Given the description of an element on the screen output the (x, y) to click on. 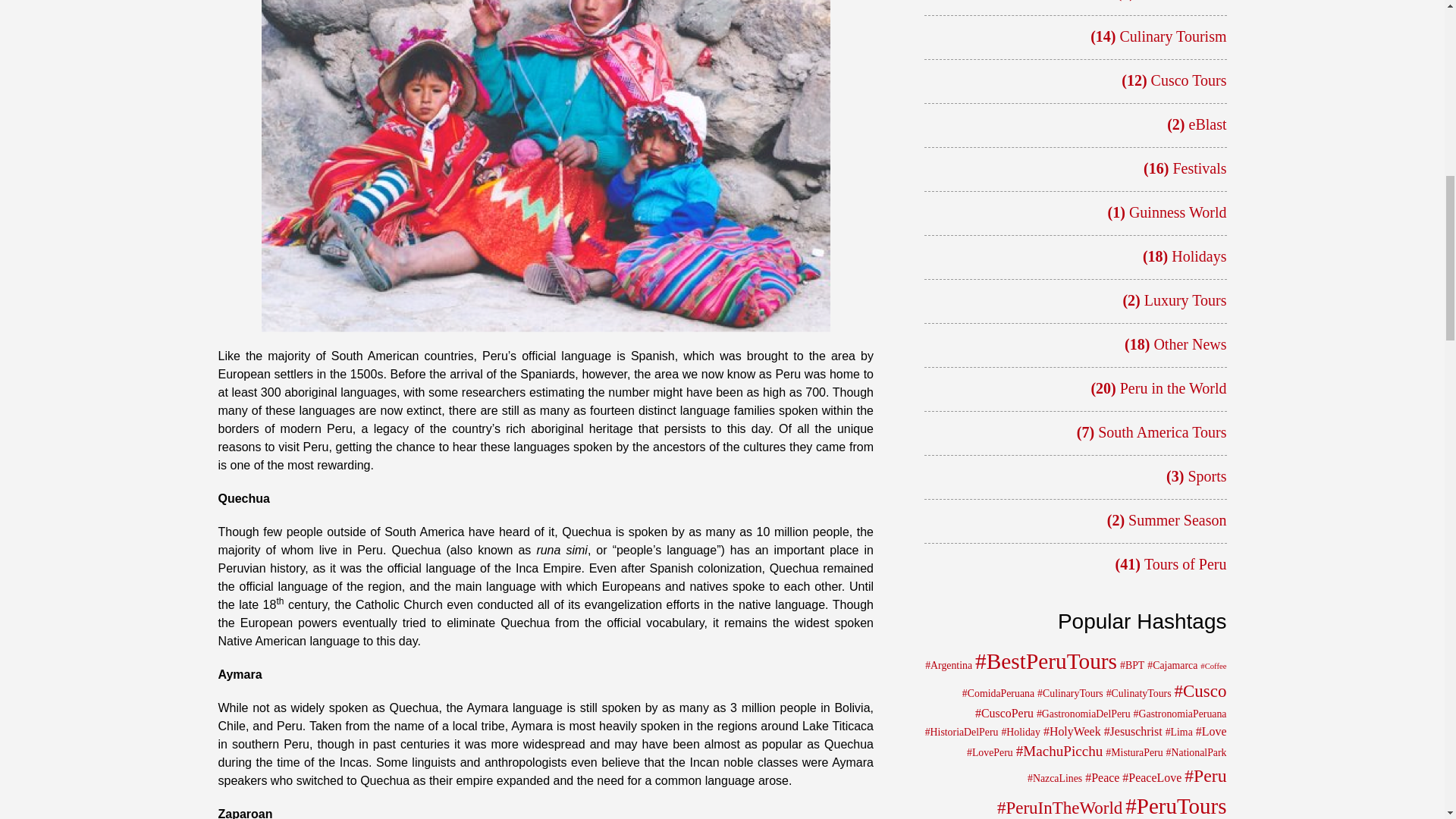
View all posts in Luxury Tours category (1185, 299)
View all posts in Cusco Tours category (1189, 80)
View all posts in Guinness World category (1178, 211)
View all posts in eBlast category (1208, 124)
View all posts in Holidays category (1198, 256)
View all posts in Culinary Tourism category (1172, 36)
View all posts in Festivals category (1198, 167)
